Given the description of an element on the screen output the (x, y) to click on. 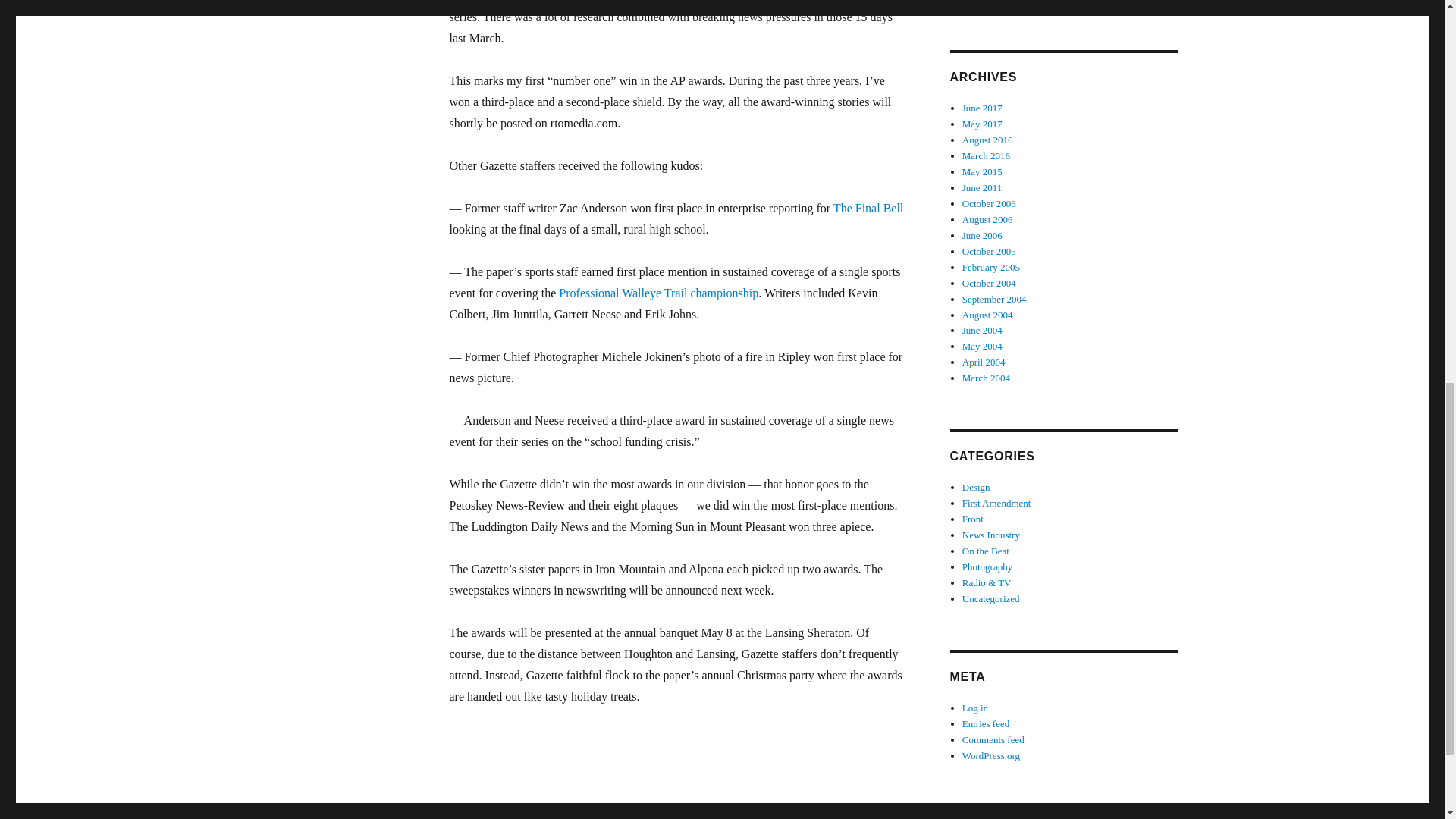
June 2004 (982, 329)
Photography (986, 566)
Uncategorized (991, 598)
August 2006 (987, 219)
October 2006 (989, 203)
June 2017 (982, 107)
May 2017 (982, 123)
June 2006 (982, 235)
September 2004 (994, 298)
The Final Bell (867, 207)
